Given the description of an element on the screen output the (x, y) to click on. 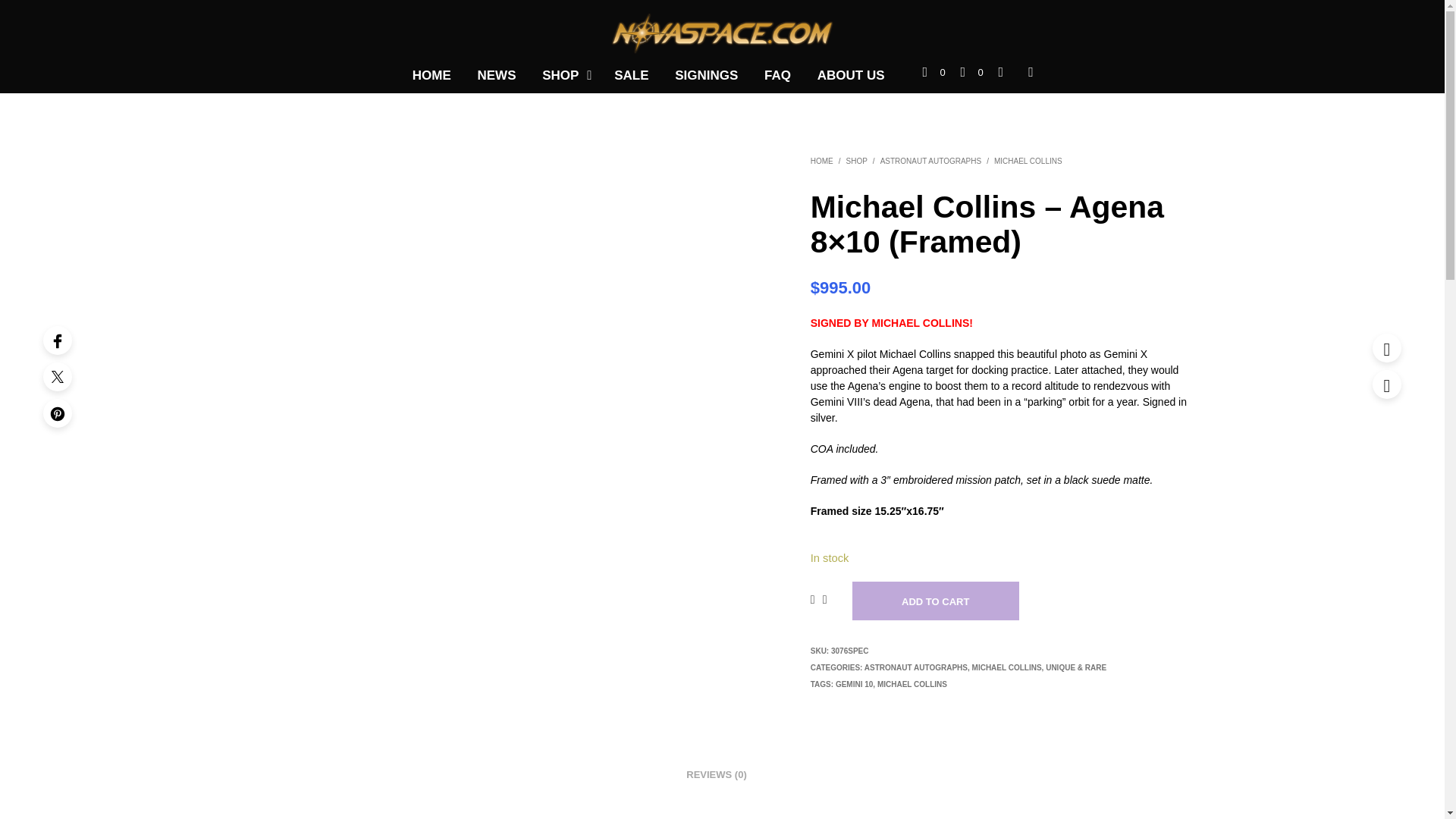
HOME (432, 75)
NEWS (496, 75)
ABOUT US (851, 75)
SIGNINGS (706, 75)
0 (933, 72)
ASTRONAUT AUTOGRAPHS (916, 667)
SHOP (856, 160)
SHOP (560, 75)
ASTRONAUT AUTOGRAPHS (930, 160)
FAQ (777, 75)
